Given the description of an element on the screen output the (x, y) to click on. 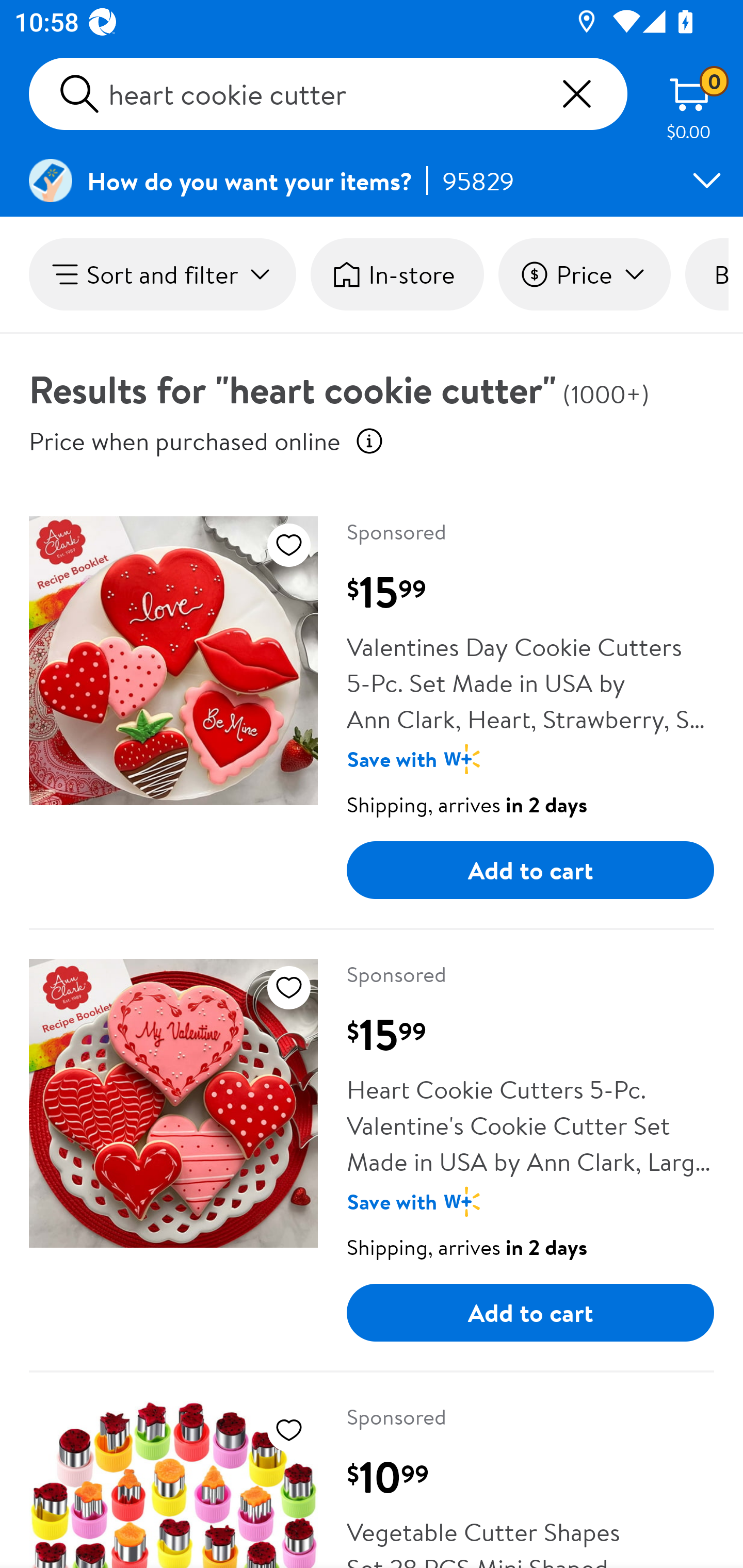
heart cookie cutter Clear Text (327, 94)
Clear Text (576, 94)
Price when purchased online (184, 440)
Price when purchased online (369, 440)
Add to cart (530, 870)
Add to cart (530, 1313)
